Given the description of an element on the screen output the (x, y) to click on. 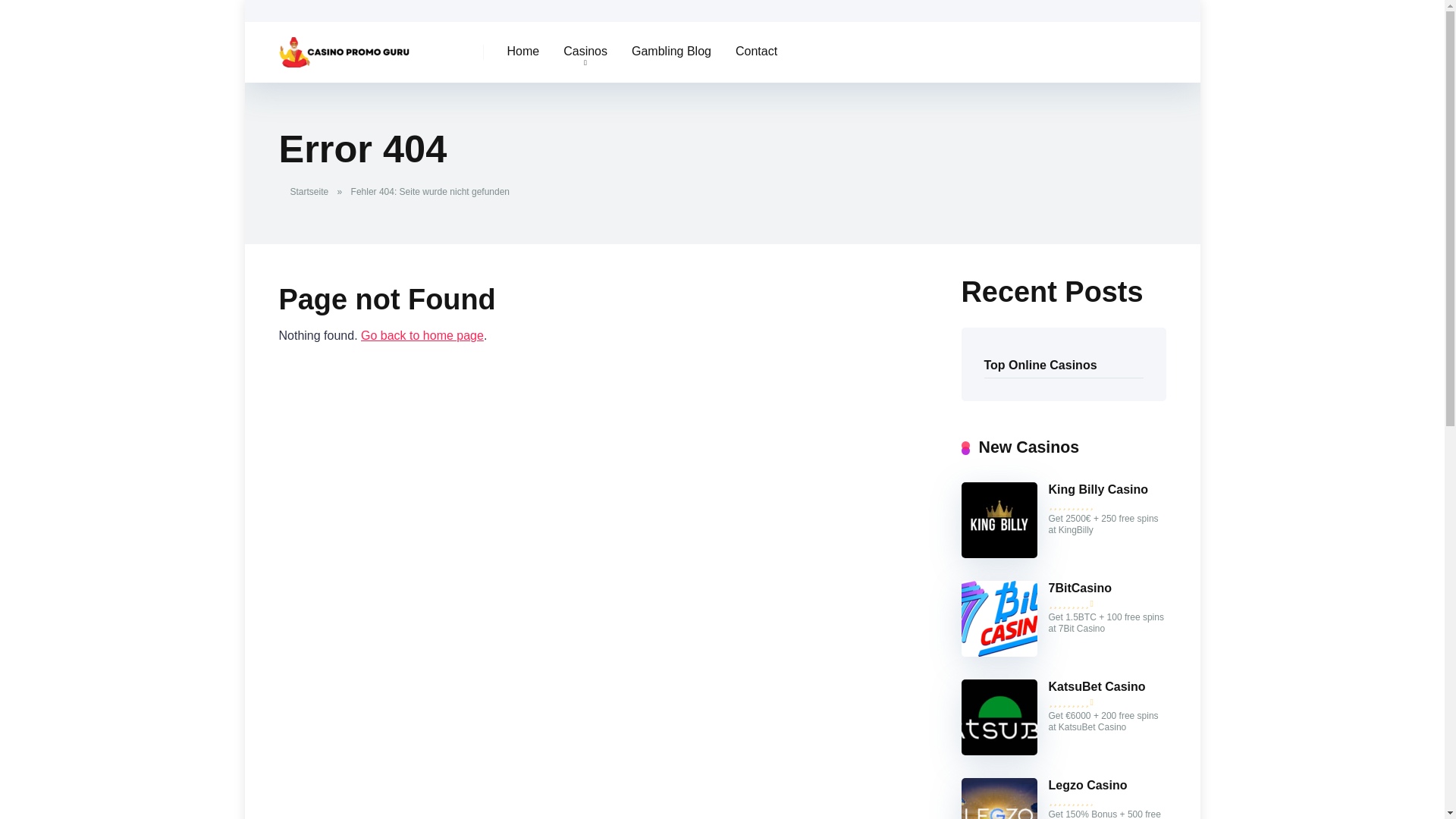
Home (523, 52)
7BitCasino (1080, 588)
KatsuBet Casino (998, 750)
King Billy Casino (1098, 489)
7BitCasino (998, 652)
KatsuBet Casino (1096, 686)
7BitCasino (1080, 588)
CasinoPromoGuru.com - Online Casino Bonuses (422, 335)
CasinoPromoGuru.com - Online Casino Bonuses (344, 46)
Legzo Casino (1087, 785)
